Given the description of an element on the screen output the (x, y) to click on. 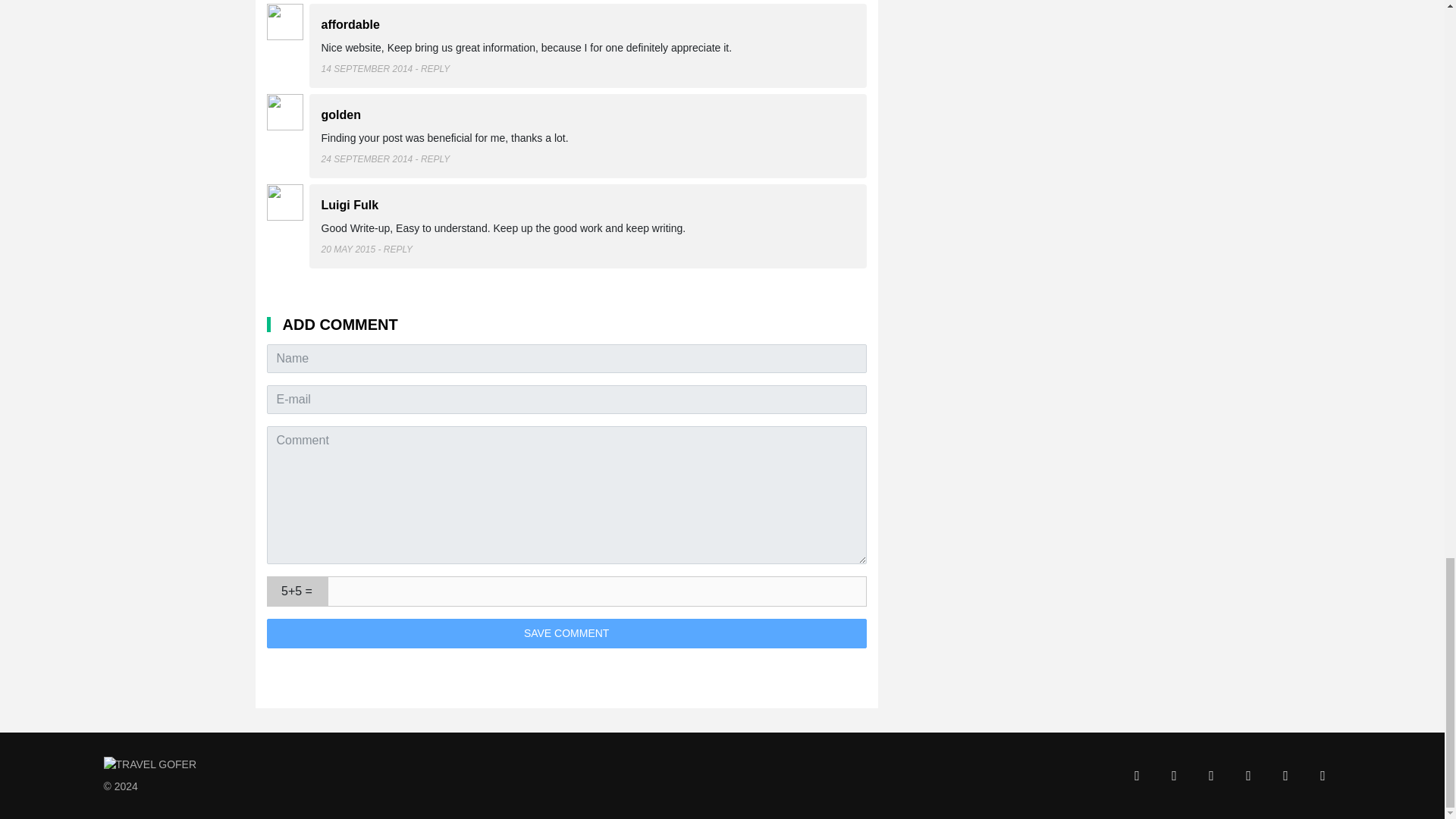
golden (341, 114)
Save comment (566, 632)
REPLY (398, 248)
REPLY (434, 68)
Luigi Fulk (349, 204)
affordable (350, 23)
REPLY (434, 158)
